Given the description of an element on the screen output the (x, y) to click on. 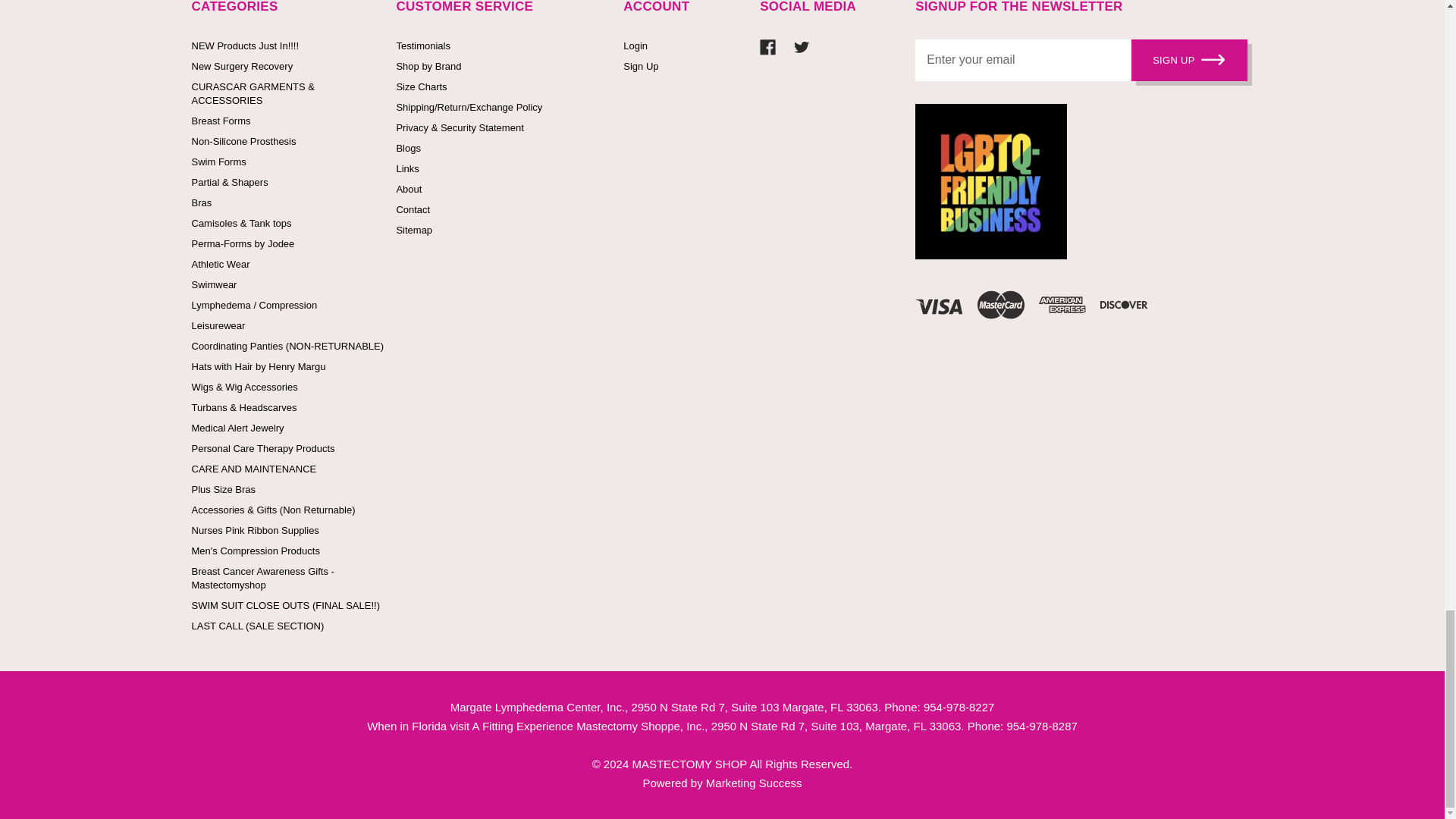
Sign Up (1189, 60)
Twitter (801, 47)
Facebook (768, 47)
